Given the description of an element on the screen output the (x, y) to click on. 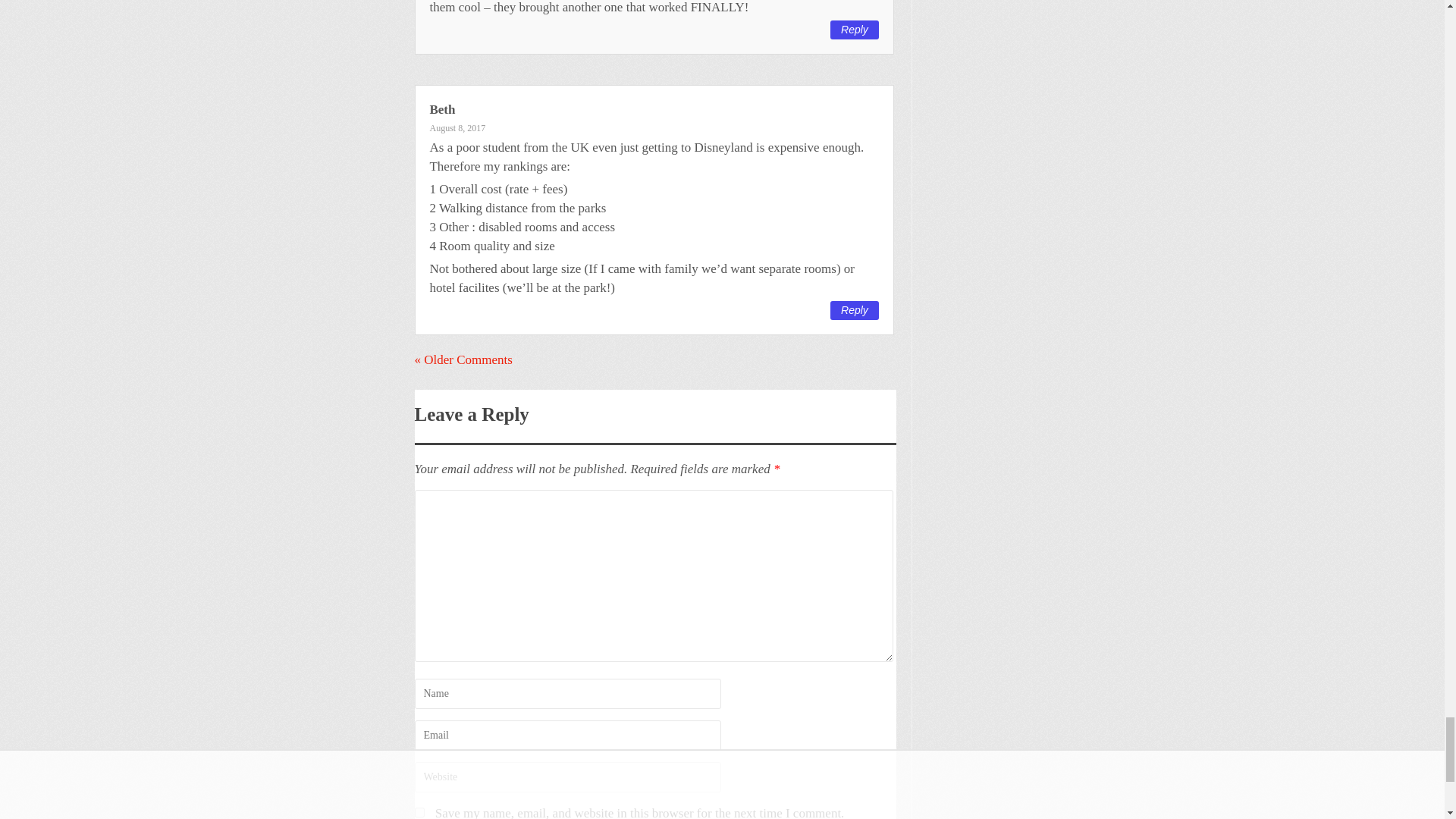
yes (418, 812)
